Given the description of an element on the screen output the (x, y) to click on. 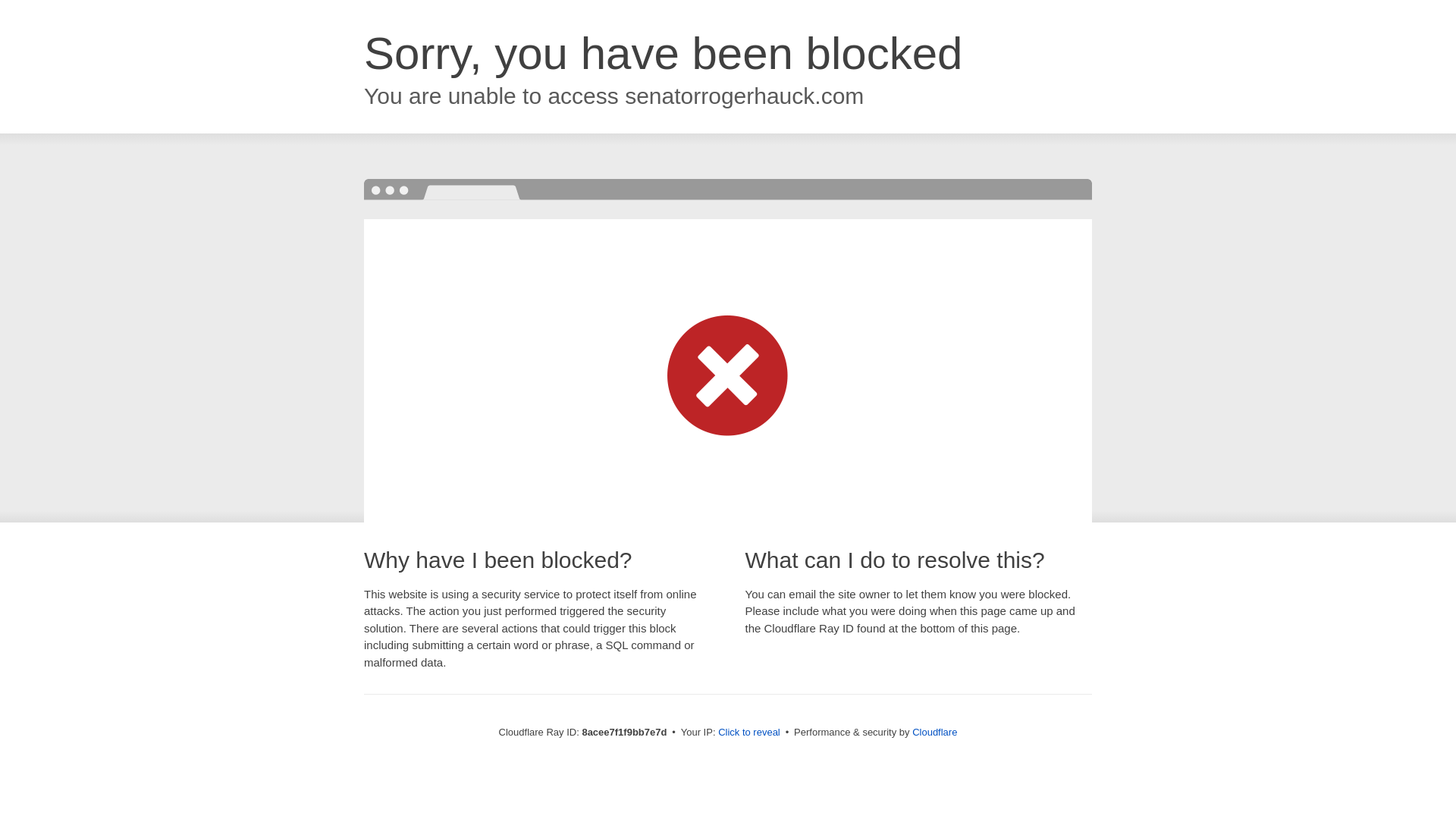
Click to reveal (748, 732)
Cloudflare (934, 731)
